Given the description of an element on the screen output the (x, y) to click on. 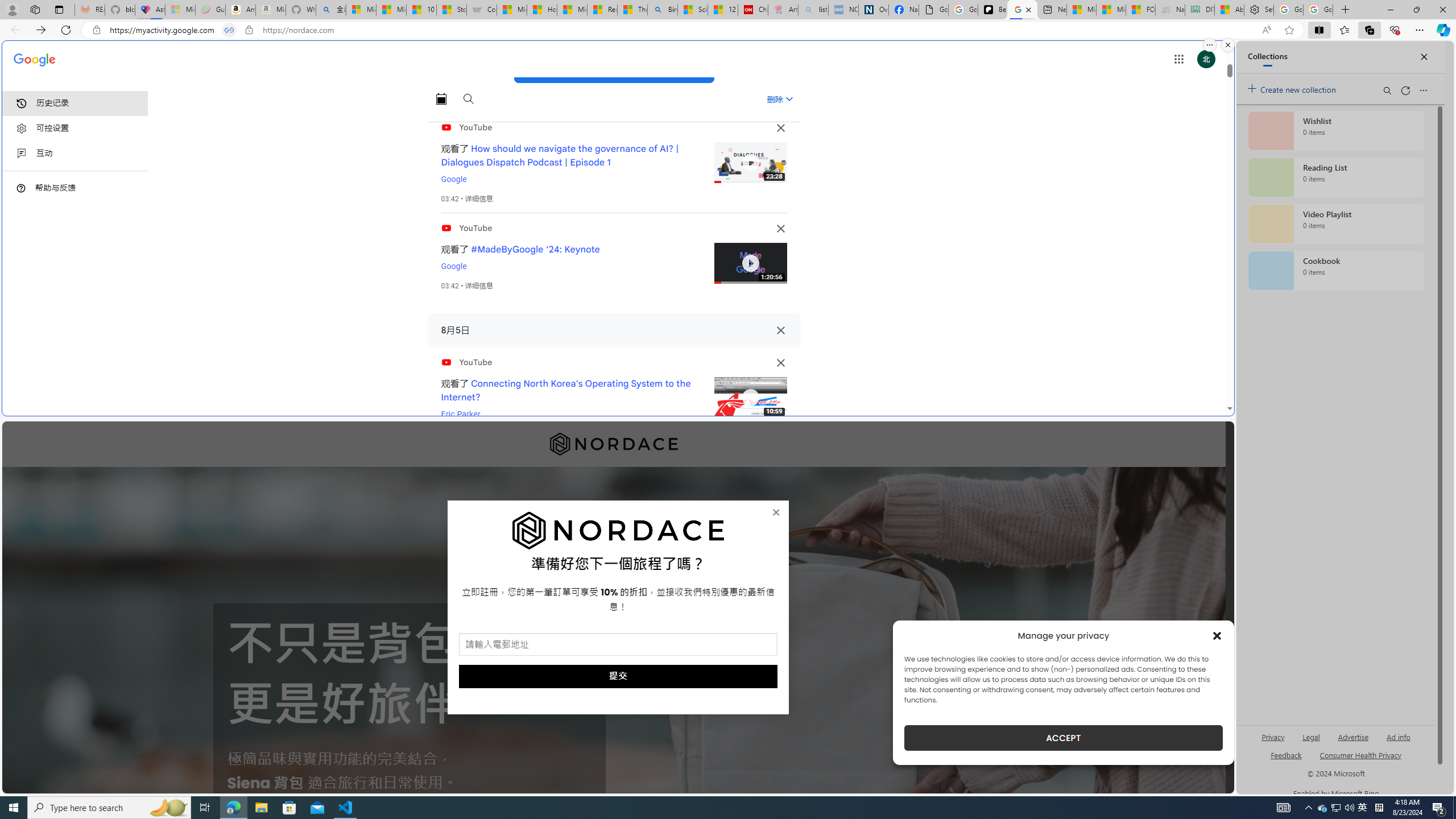
Class: cmplz-close (1217, 635)
Class: DI7Mnf NMm5M (780, 330)
Navy Quest (1169, 9)
DITOGAMES AG Imprint (1200, 9)
